Given the description of an element on the screen output the (x, y) to click on. 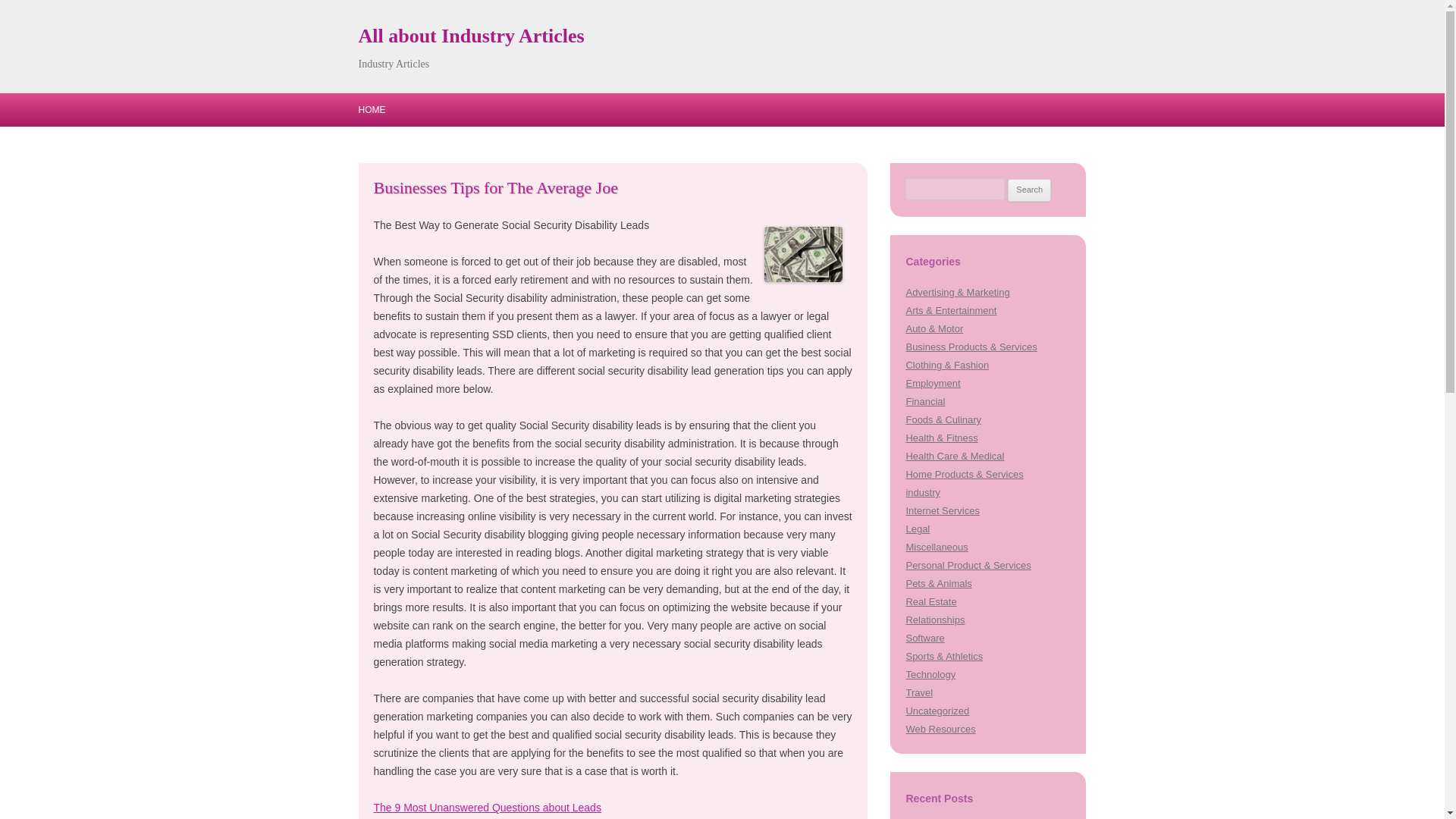
All about Industry Articles (470, 36)
Internet Services (941, 510)
Web Resources (940, 728)
Miscellaneous (936, 546)
Employment (932, 383)
industry (922, 491)
The 9 Most Unanswered Questions about Leads (485, 807)
Legal (917, 528)
Search (1029, 190)
